Given the description of an element on the screen output the (x, y) to click on. 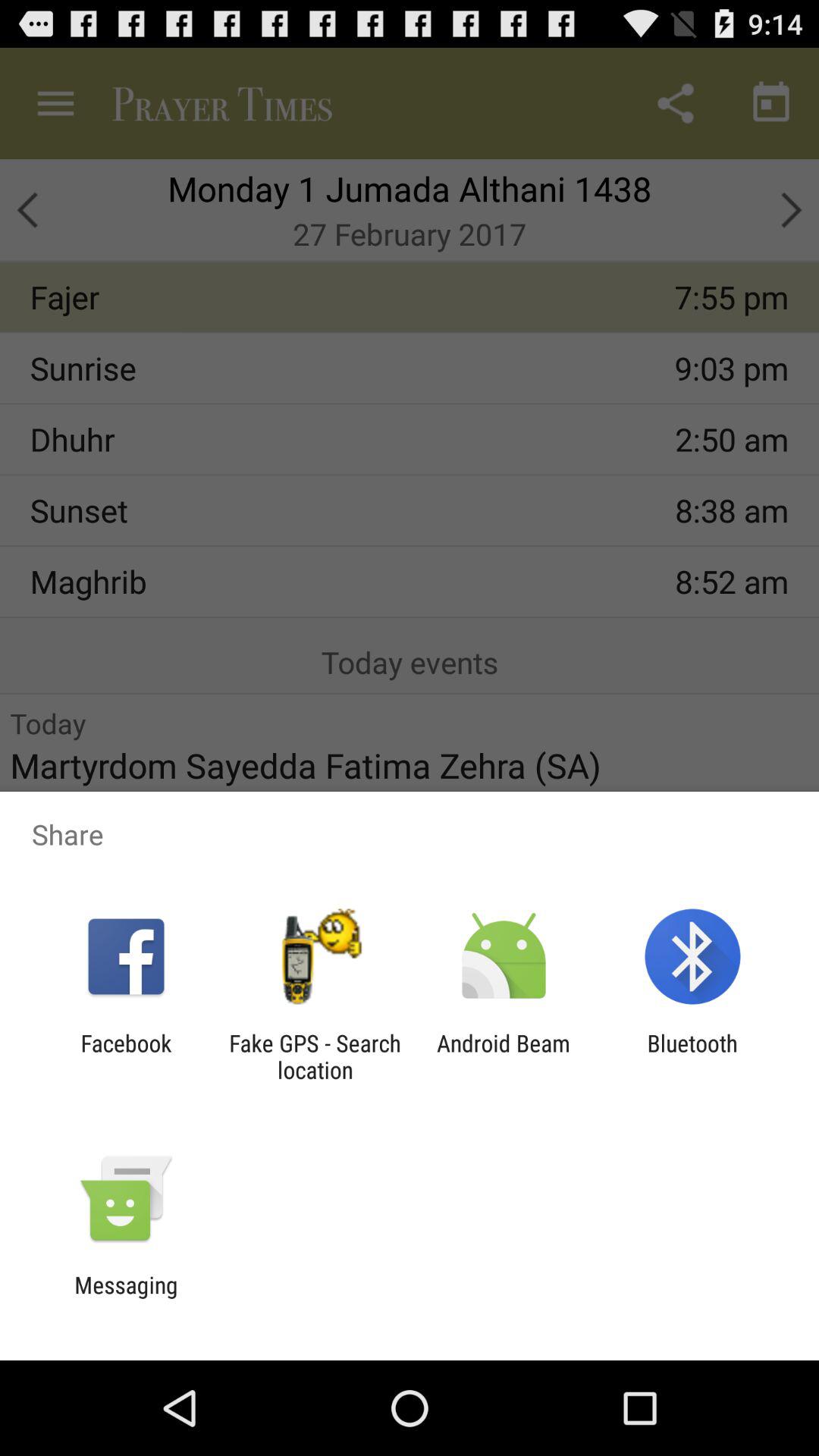
turn on the item next to fake gps search app (503, 1056)
